Given the description of an element on the screen output the (x, y) to click on. 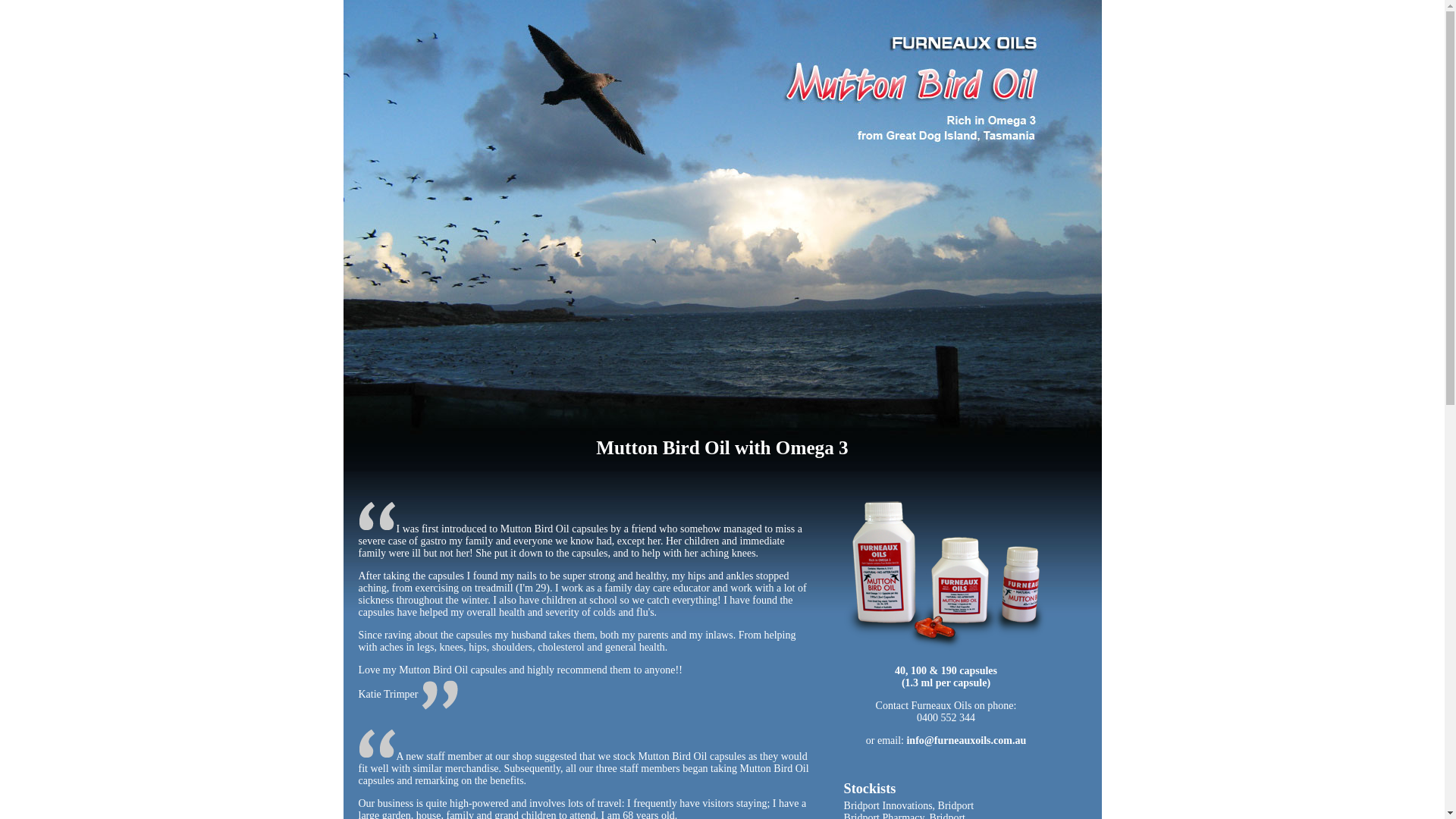
info@furneauxoils.com.au Element type: text (966, 740)
